Given the description of an element on the screen output the (x, y) to click on. 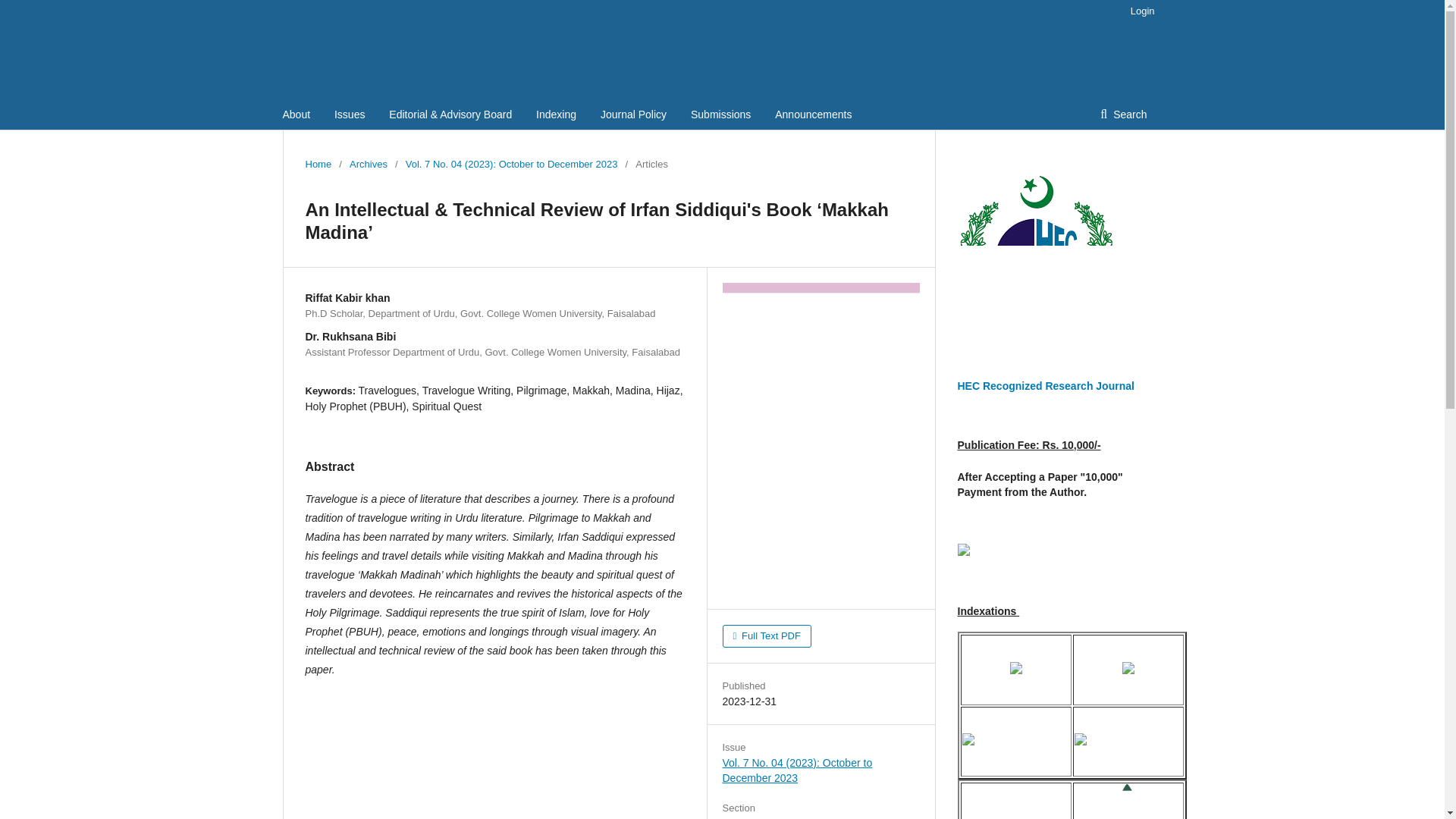
Home (317, 164)
Archives (368, 164)
Login (1138, 11)
Indexing (555, 114)
Journal Policy (632, 114)
Full Text PDF (766, 635)
About (296, 114)
Submissions (720, 114)
Issues (349, 114)
Announcements (812, 114)
